Given the description of an element on the screen output the (x, y) to click on. 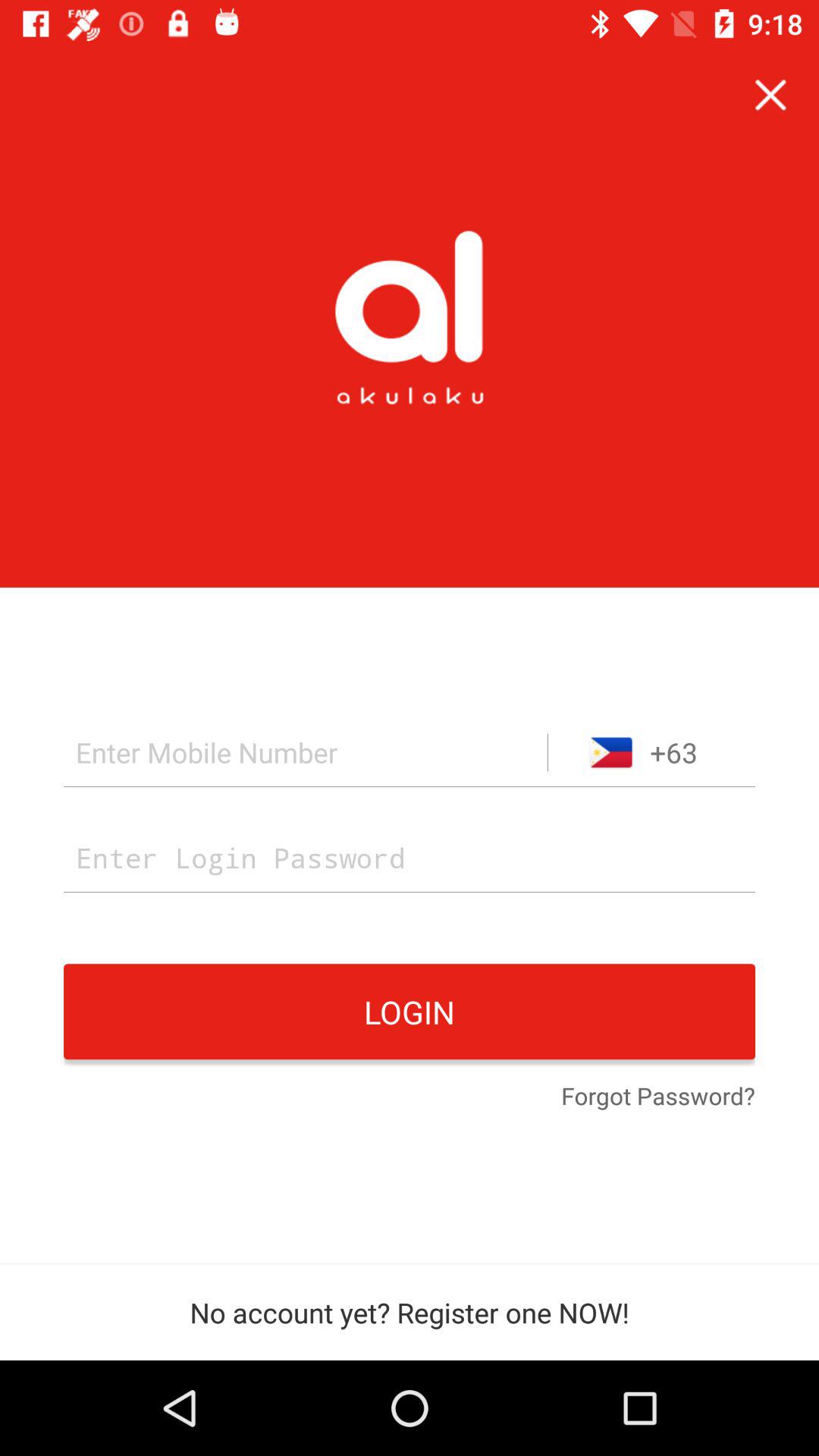
press the icon above the +63 item (771, 95)
